Given the description of an element on the screen output the (x, y) to click on. 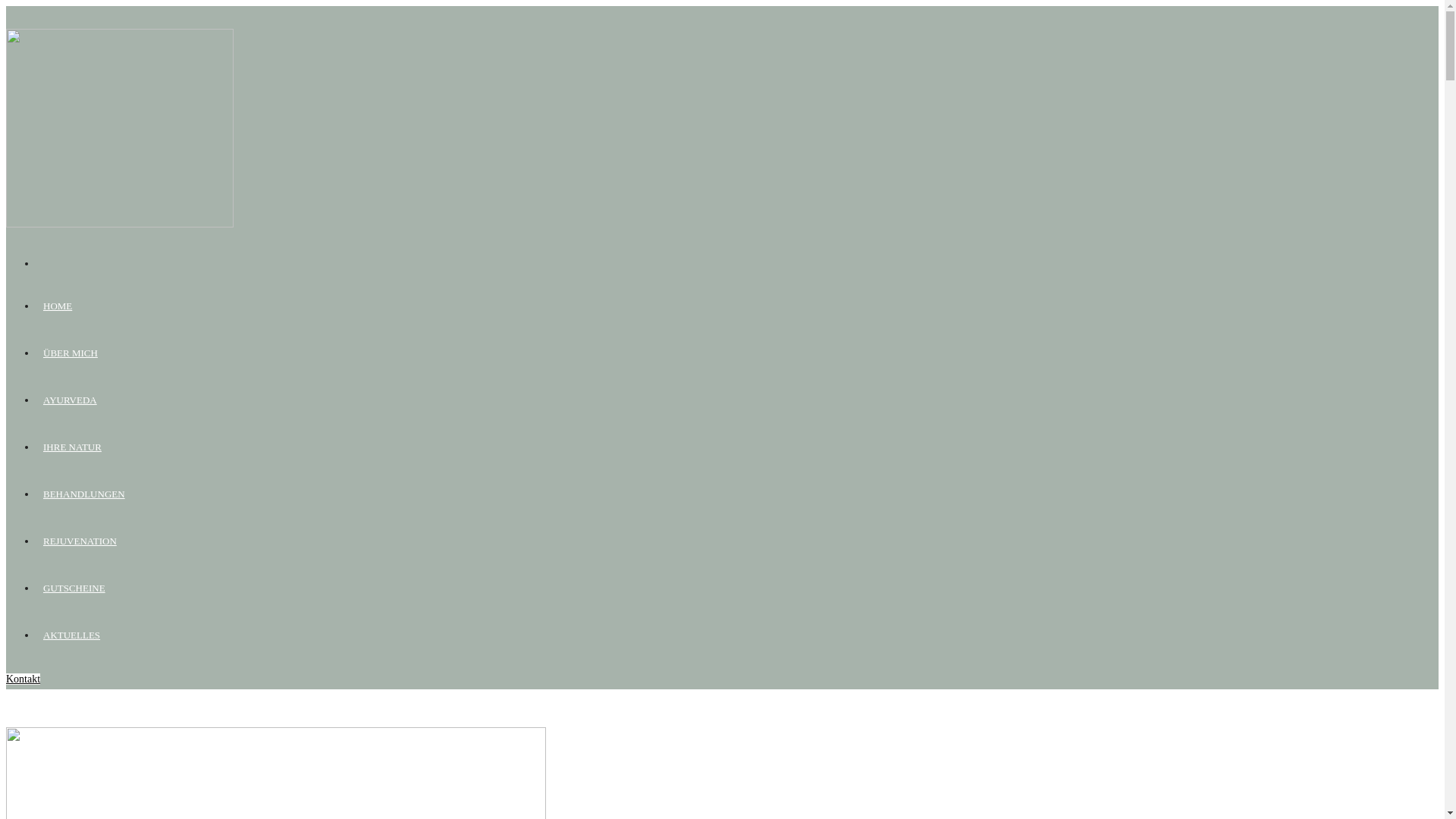
AKTUELLES Element type: text (71, 635)
IHRE NATUR Element type: text (72, 447)
REJUVENATION Element type: text (79, 541)
Kontakt Element type: text (23, 678)
HOME Element type: text (57, 305)
AYURVEDA Element type: text (69, 399)
BEHANDLUNGEN Element type: text (83, 494)
GUTSCHEINE Element type: text (74, 588)
